Given the description of an element on the screen output the (x, y) to click on. 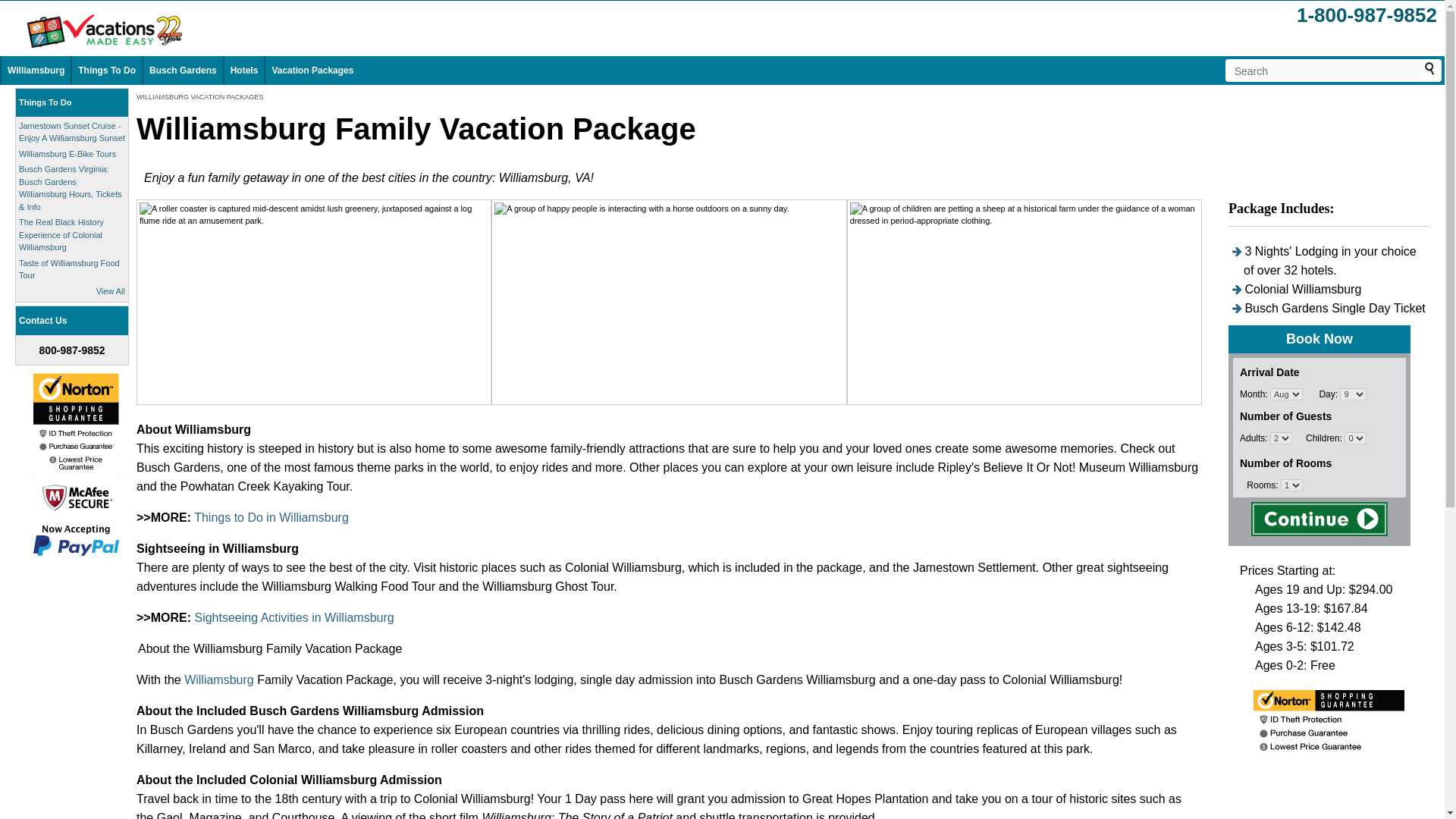
Busch Gardens (182, 70)
WILLIAMSBURG VACATION PACKAGES (199, 96)
View All (110, 290)
Sightseeing Activities in Williamsburg (293, 617)
Jamestown Sunset Cruise - Enjoy A Williamsburg Sunset (71, 132)
The Real Black History Experience of Colonial Williamsburg (60, 234)
Taste of Williamsburg Food Tour (68, 268)
Things To Do (106, 70)
Things to Do in Williamsburg (271, 517)
Williamsburg E-Bike Tours (67, 153)
Williamsburg (35, 70)
Things To Do (44, 102)
Hotels (244, 70)
Vacation Packages (311, 70)
Williamsburg (220, 679)
